Given the description of an element on the screen output the (x, y) to click on. 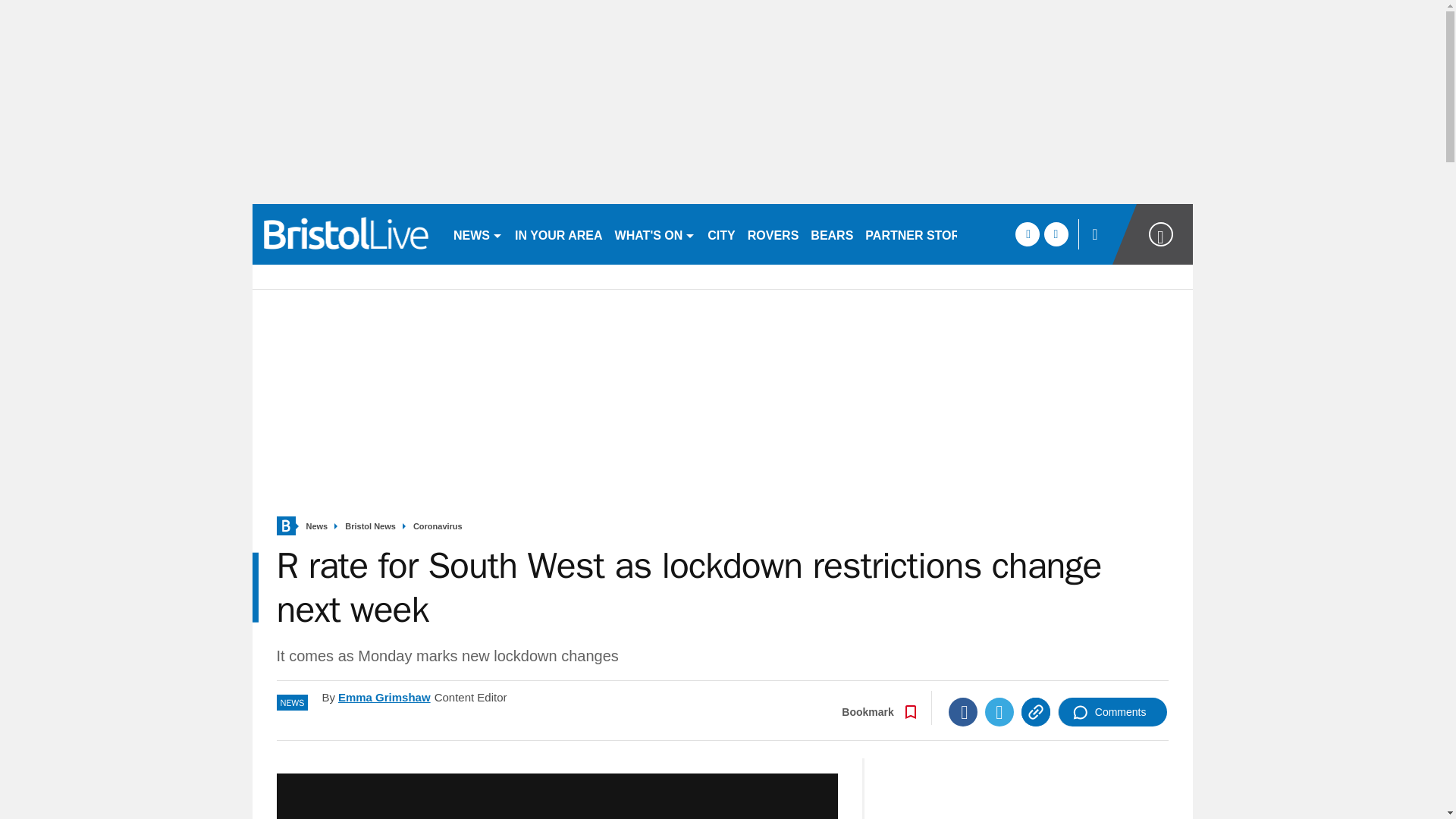
bristolpost (345, 233)
twitter (1055, 233)
Facebook (962, 711)
ROVERS (773, 233)
PARTNER STORIES (922, 233)
BEARS (832, 233)
Comments (1112, 711)
facebook (1026, 233)
IN YOUR AREA (558, 233)
Twitter (999, 711)
NEWS (477, 233)
WHAT'S ON (654, 233)
